Given the description of an element on the screen output the (x, y) to click on. 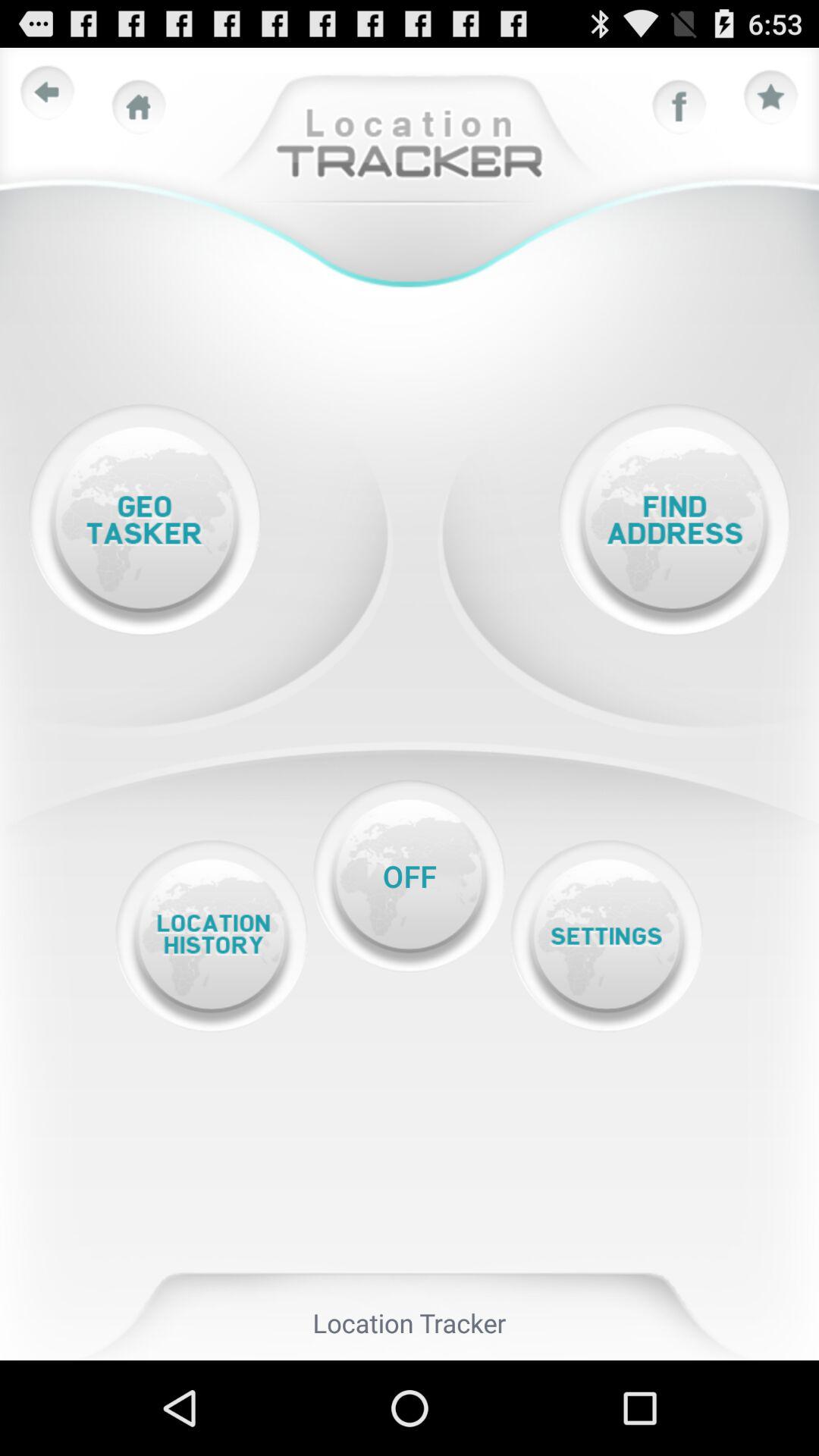
facebook option (679, 107)
